Given the description of an element on the screen output the (x, y) to click on. 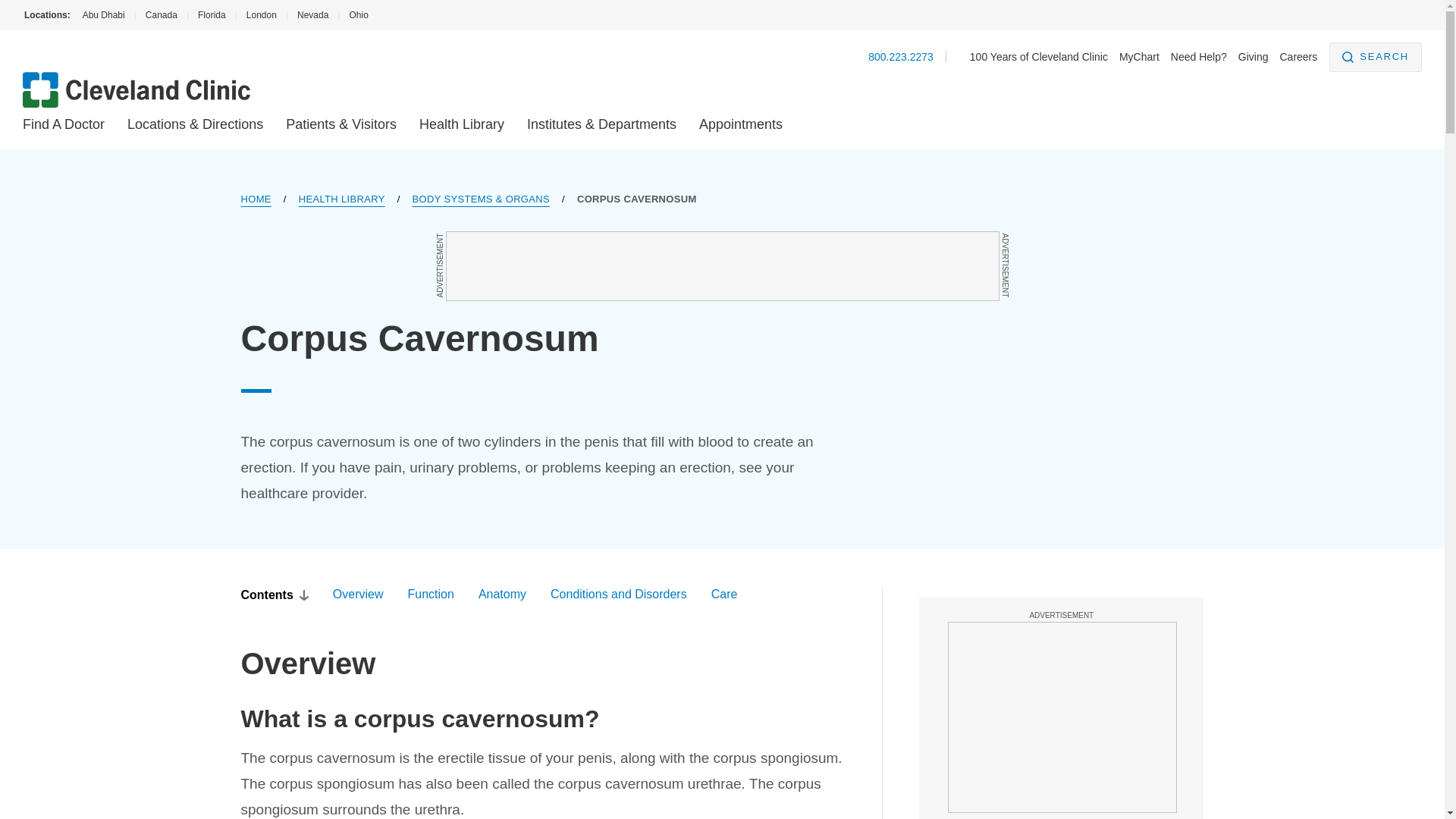
MyChart (1138, 56)
Health Library (461, 124)
Overview (358, 595)
Find A Doctor (63, 124)
HOME (255, 198)
Florida (211, 15)
SEARCH (1375, 57)
Need Help? (1198, 56)
3rd party ad content (721, 265)
3rd party ad content (1061, 717)
Appointments (740, 124)
HEALTH LIBRARY (341, 198)
Anatomy (502, 595)
Conditions and Disorders (618, 595)
